Given the description of an element on the screen output the (x, y) to click on. 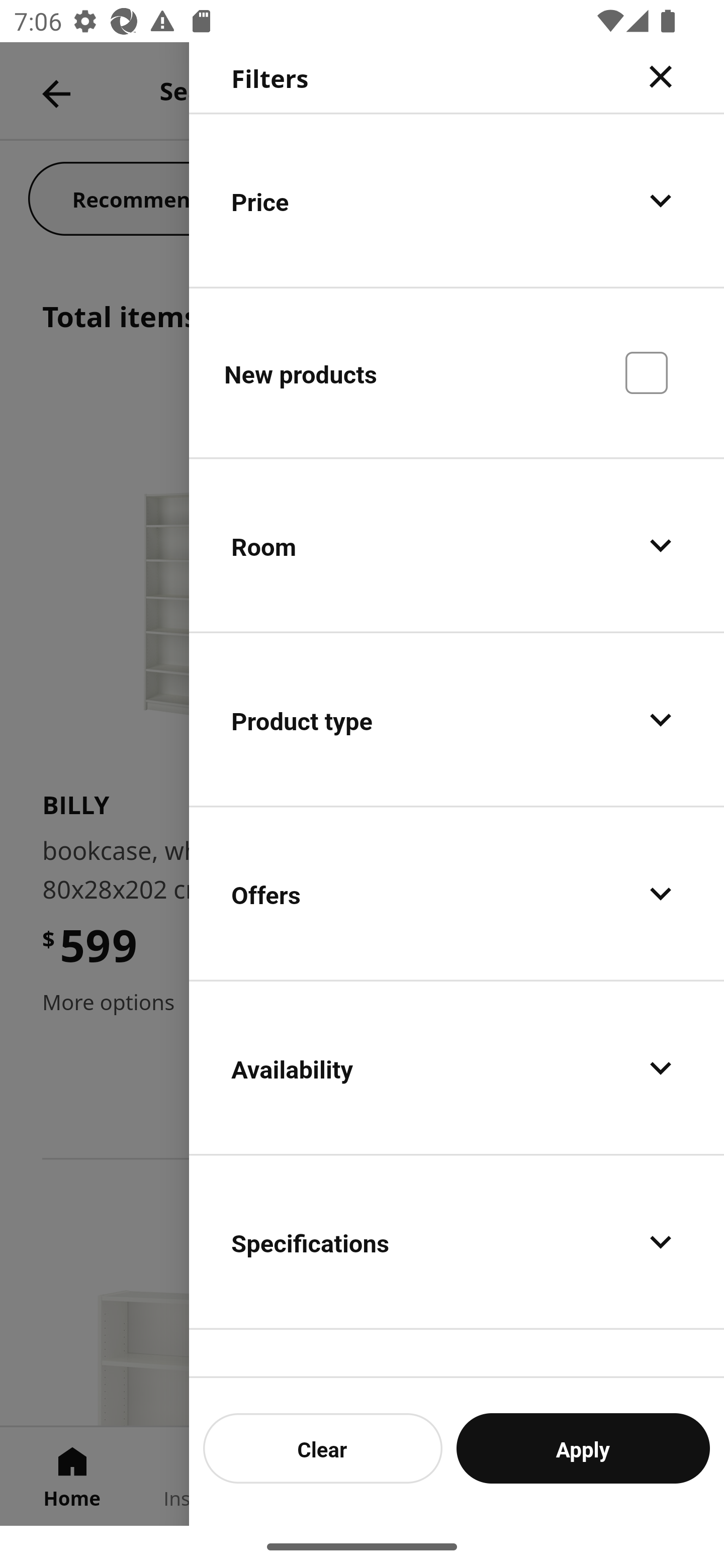
Price (456, 200)
New products (456, 371)
Room (456, 545)
Product type (456, 719)
Offers (456, 893)
Availability (456, 1067)
Specifications (456, 1241)
Clear (322, 1447)
Apply (583, 1447)
